Given the description of an element on the screen output the (x, y) to click on. 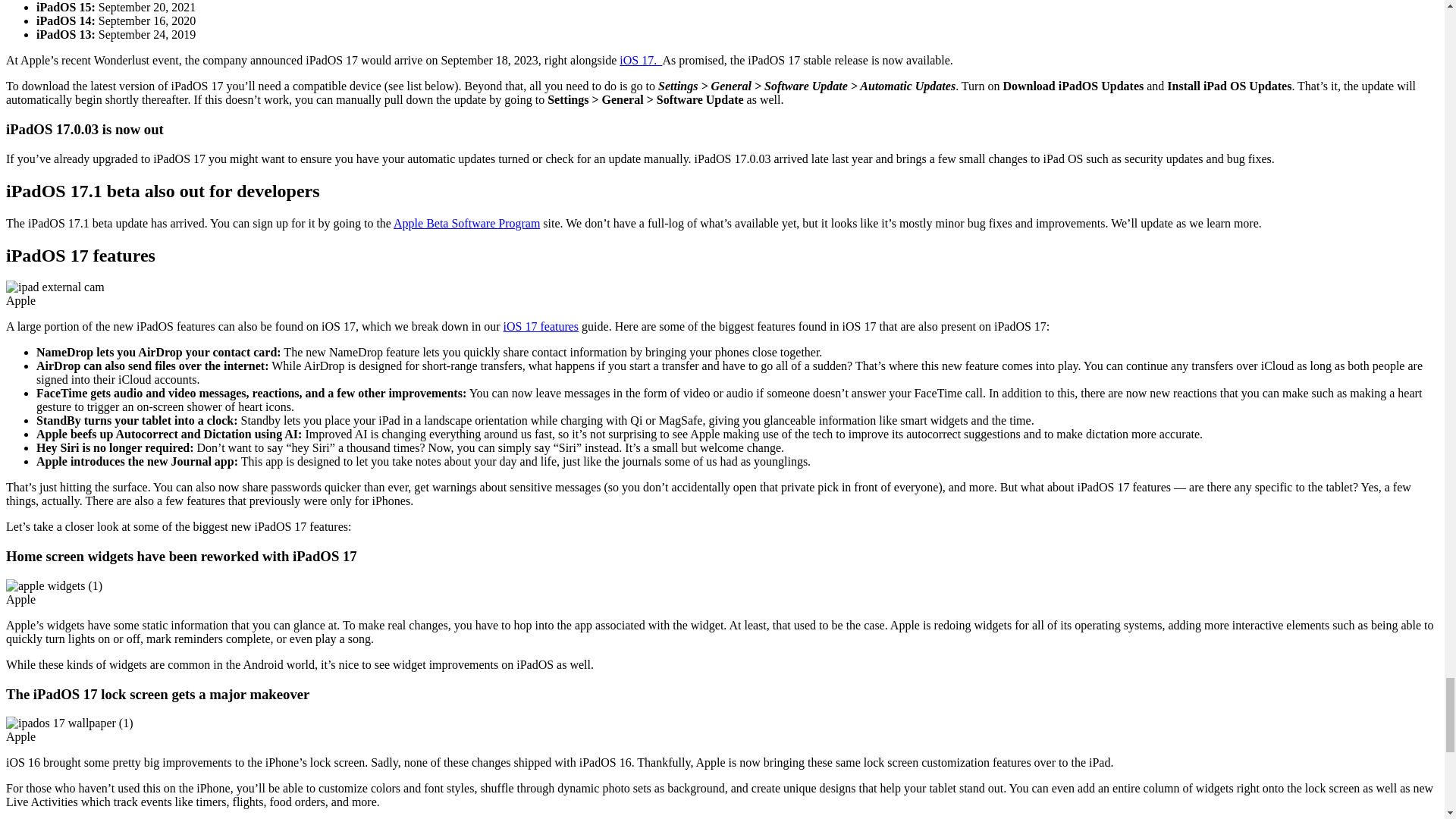
Apple Beta Software Program (466, 223)
iOS 17.  (641, 60)
iOS 17 features (541, 326)
ipad external cam (54, 287)
